Given the description of an element on the screen output the (x, y) to click on. 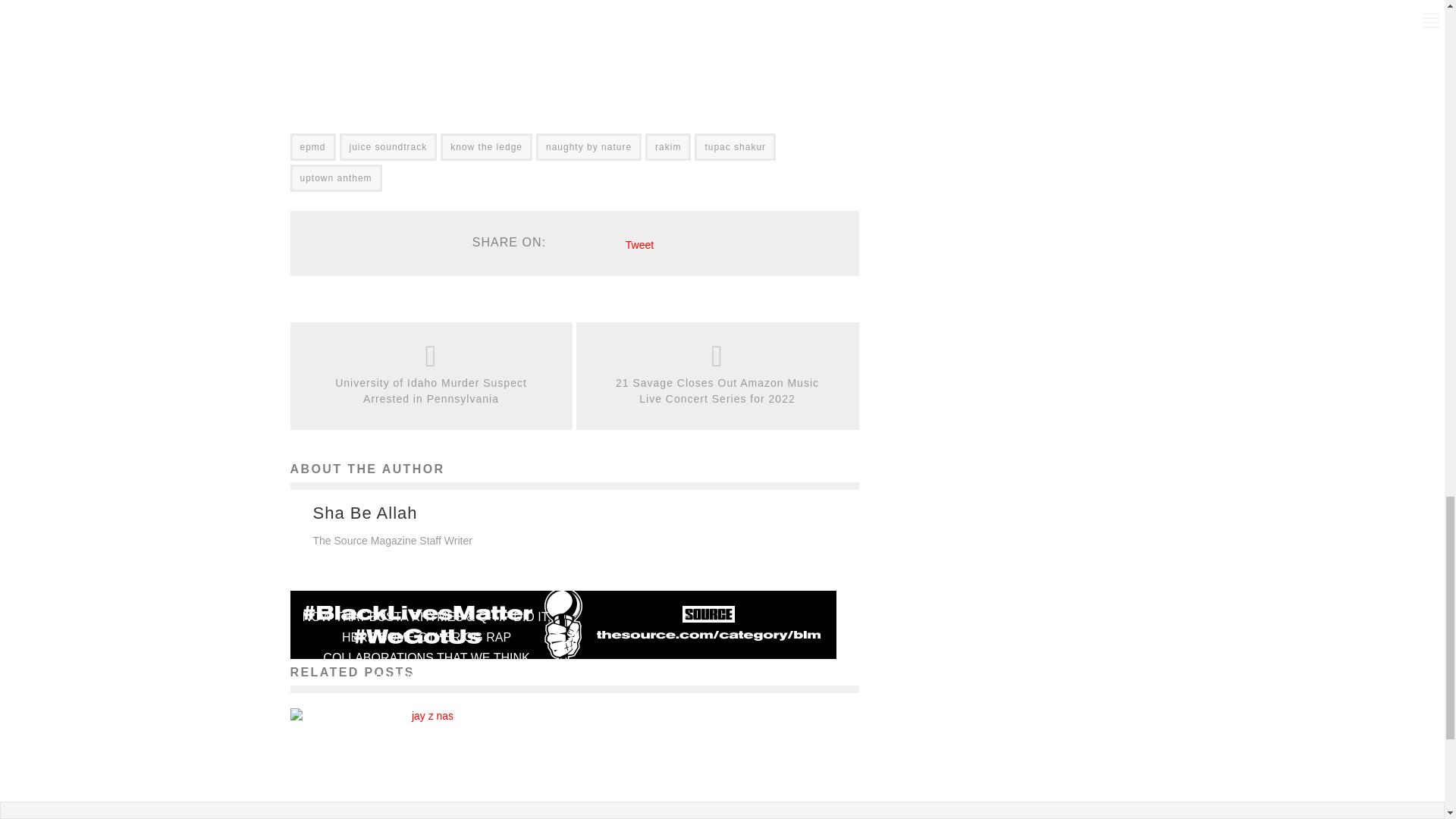
uptown anthem (335, 177)
University of Idaho Murder Suspect Arrested in Pennsylvania (430, 391)
Tweet (639, 244)
know the ledge (486, 146)
Sha Be Allah (364, 513)
juice soundtrack (388, 146)
naughty by nature (588, 146)
rakim (667, 146)
epmd (311, 146)
tupac shakur (735, 146)
